Given the description of an element on the screen output the (x, y) to click on. 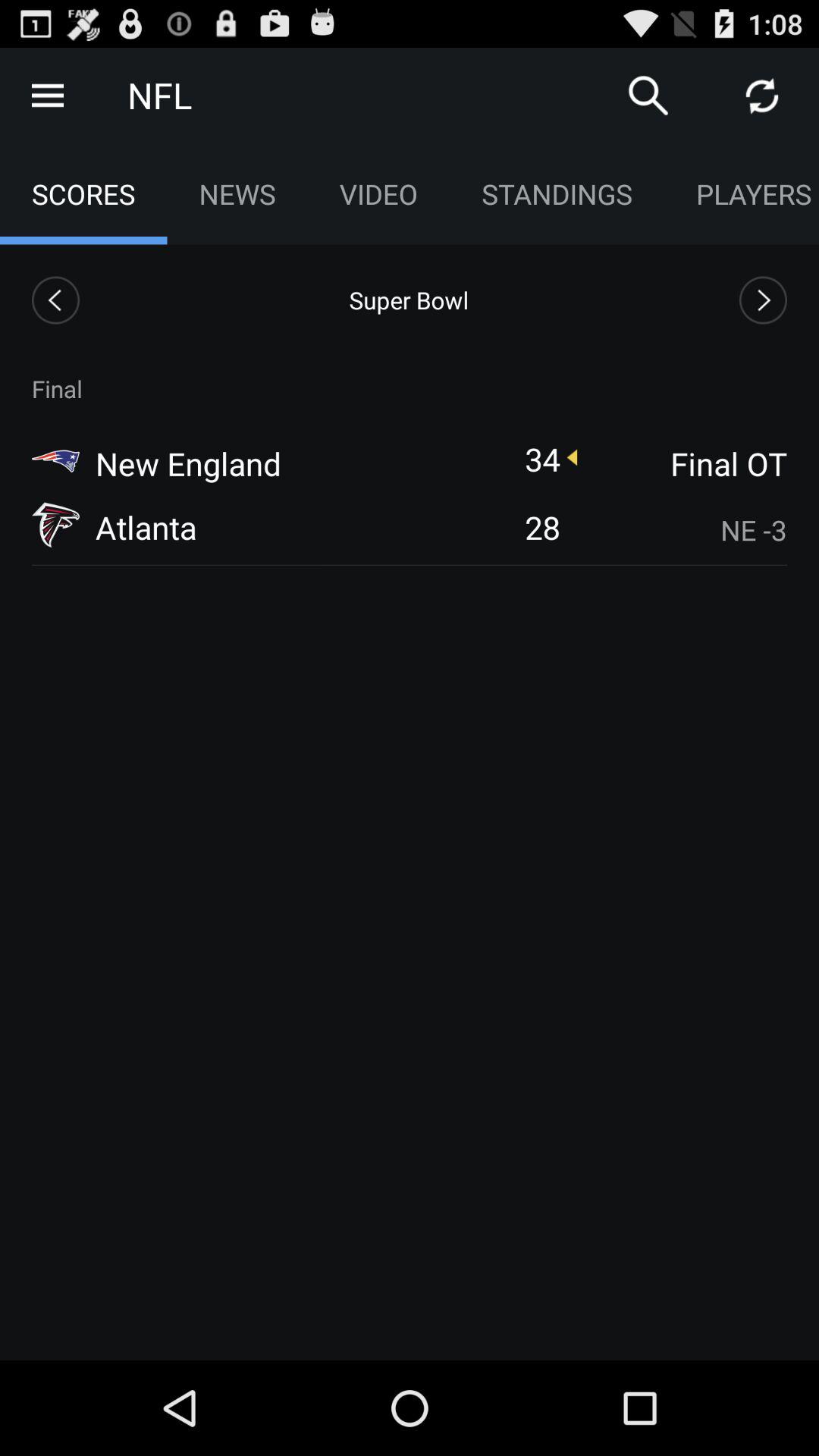
refresh the scores (762, 95)
